Given the description of an element on the screen output the (x, y) to click on. 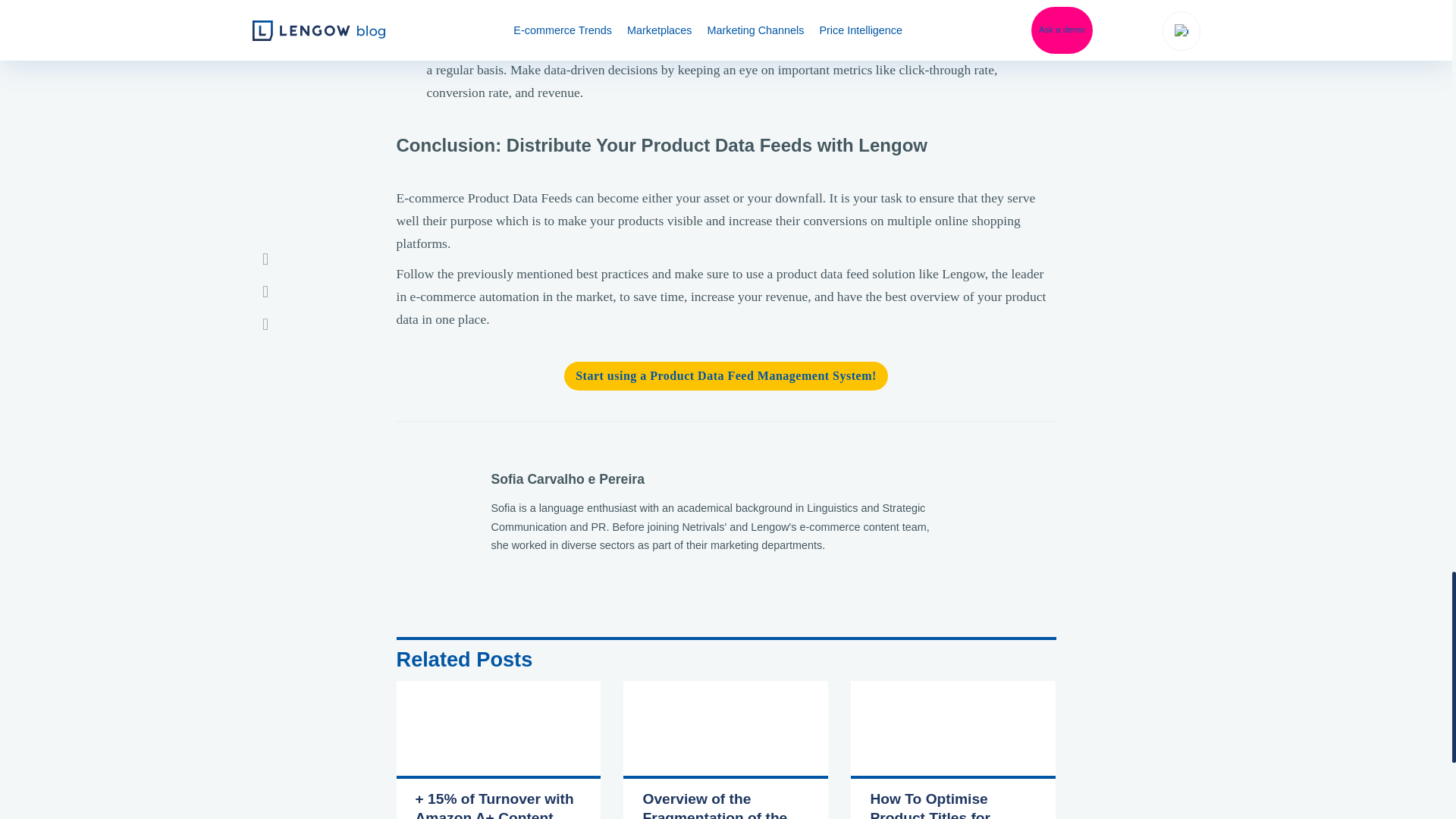
Start using a Product Data Feed Management System! (726, 375)
